Given the description of an element on the screen output the (x, y) to click on. 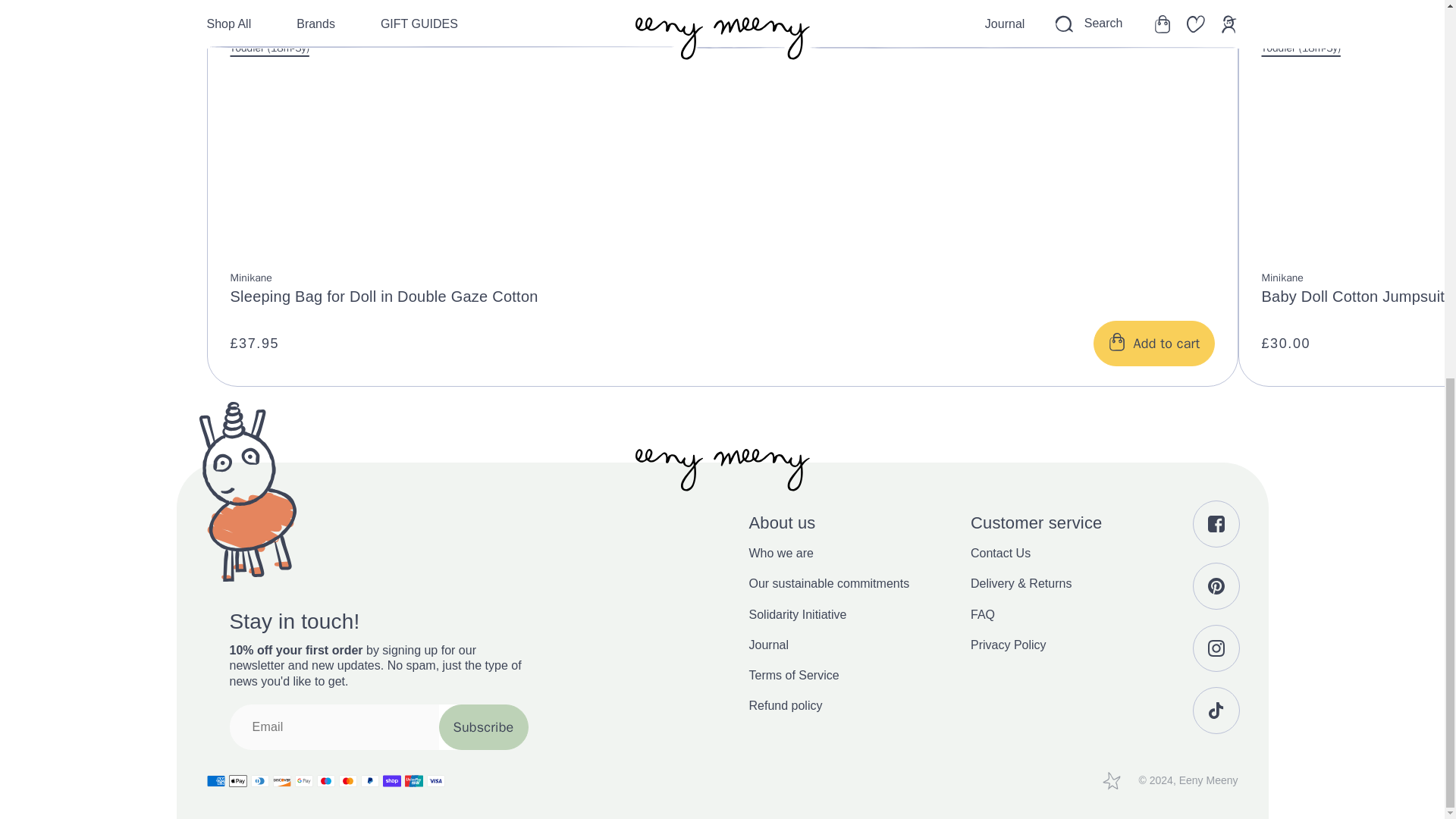
American Express (215, 781)
Apple Pay (237, 781)
Diners Club (258, 781)
